Given the description of an element on the screen output the (x, y) to click on. 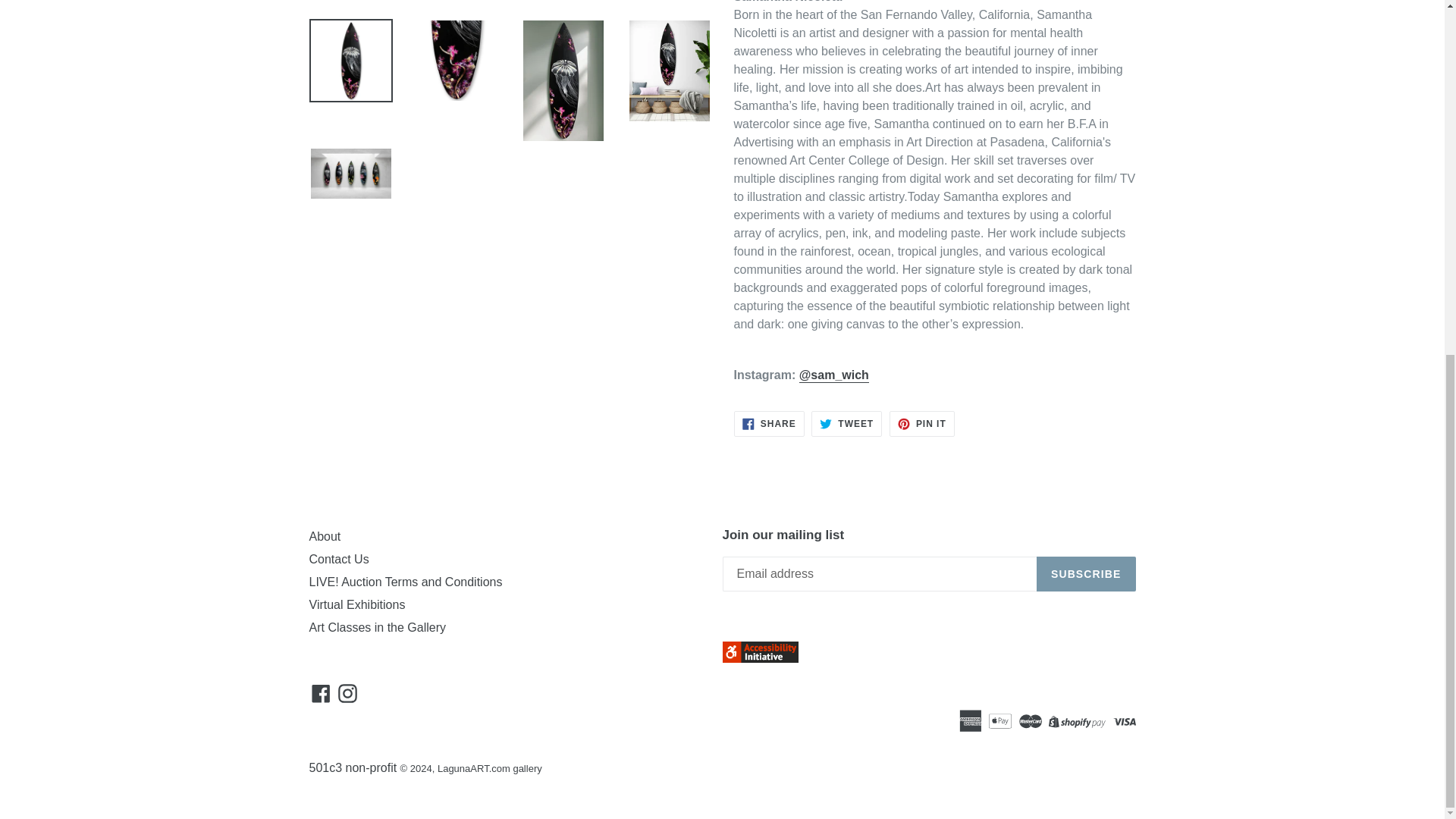
Click to view Accessibility Initiative Certificate (759, 658)
LagunaART.com gallery on Instagram (347, 692)
Pin on Pinterest (922, 423)
Page 1 (934, 2)
LagunaART.com gallery on Facebook (320, 692)
Share on Facebook (769, 423)
Tweet on Twitter (846, 423)
Page 1 (934, 375)
